Given the description of an element on the screen output the (x, y) to click on. 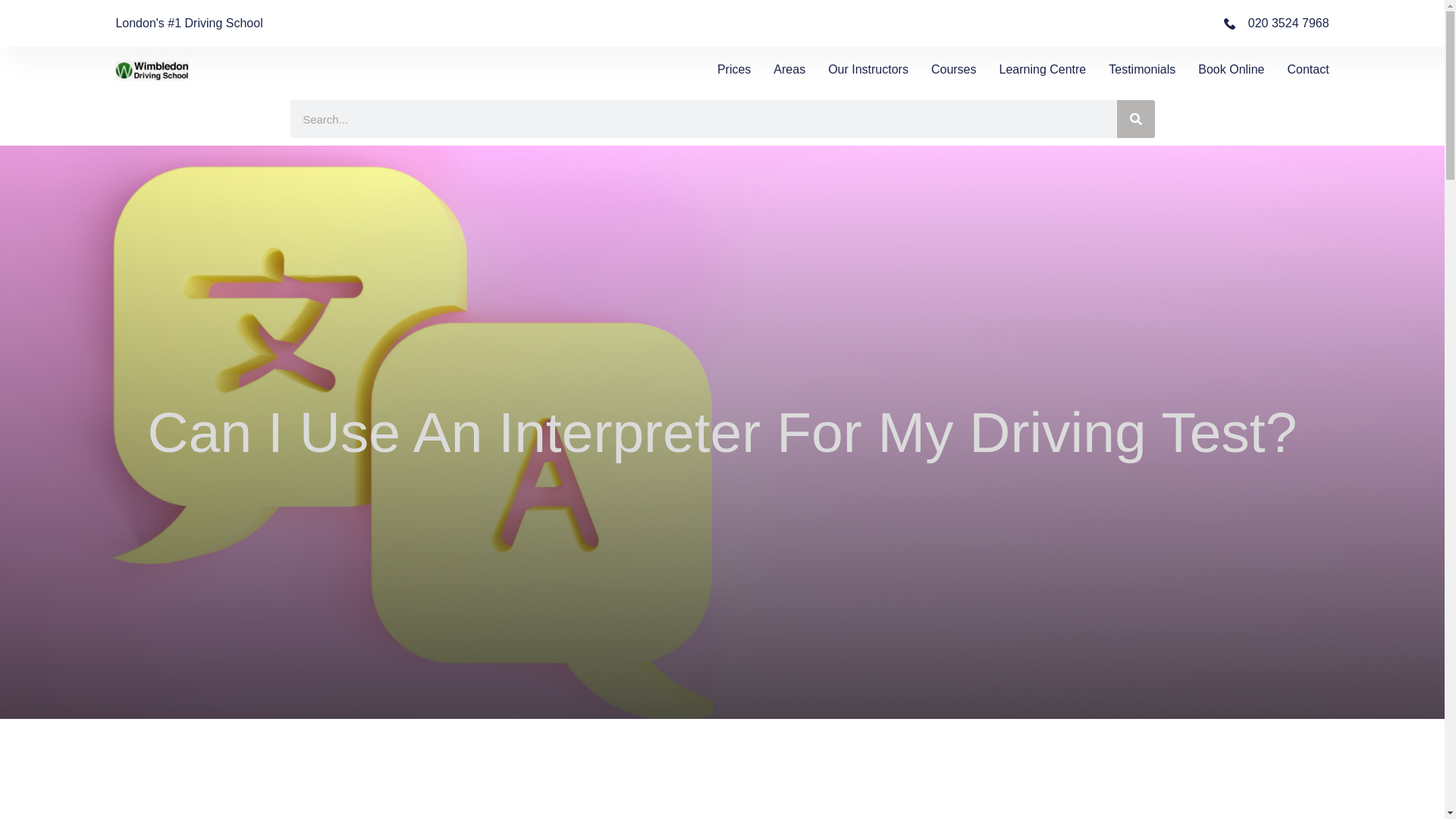
Book Online (1230, 69)
Testimonials (1141, 69)
Areas (789, 69)
Contact (1307, 69)
Learning Centre (1042, 69)
Our Instructors (868, 69)
Prices (734, 69)
Courses (953, 69)
020 3524 7968 (1276, 23)
